Given the description of an element on the screen output the (x, y) to click on. 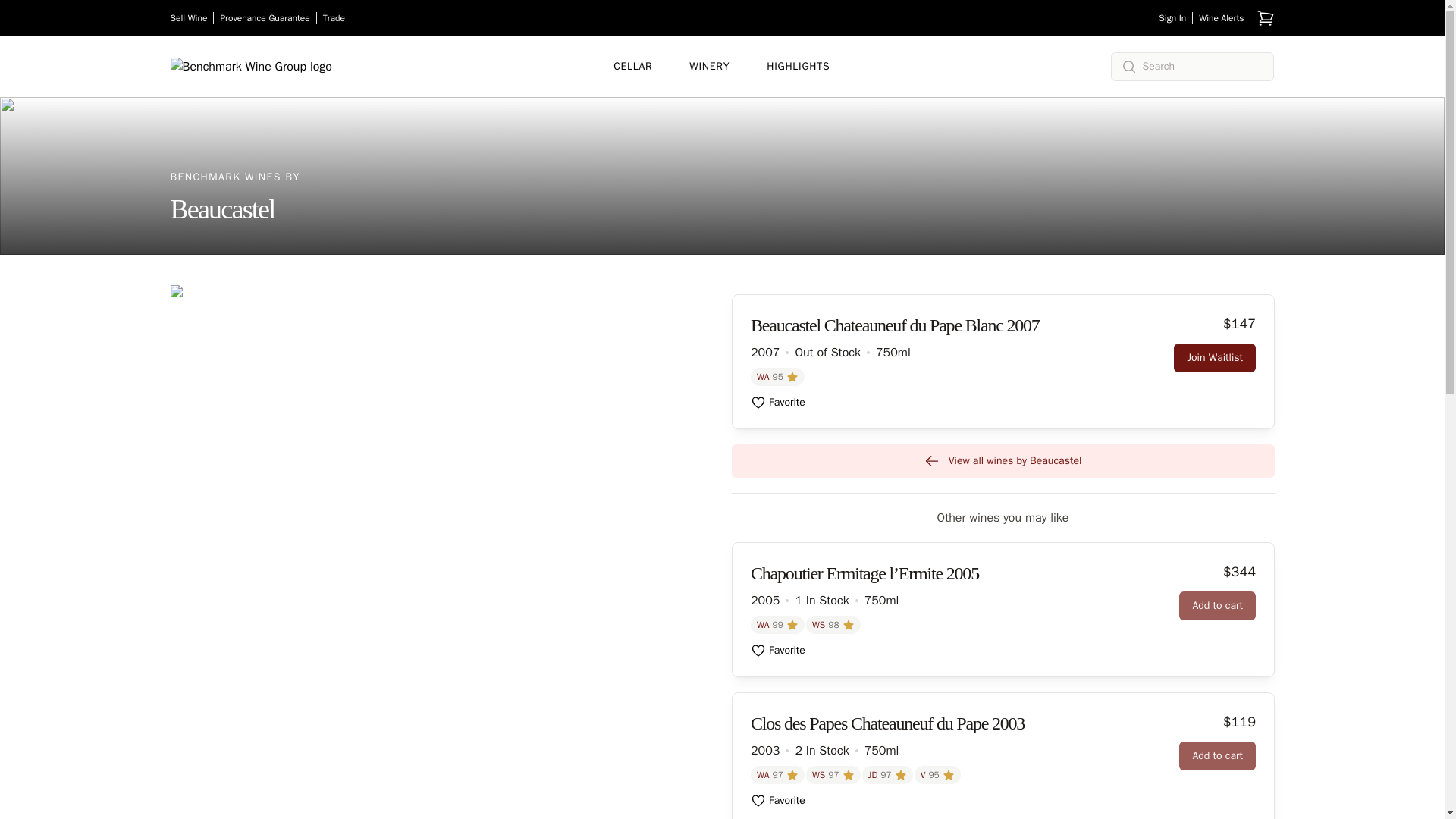
The Wine Advocate (778, 624)
Search (34, 14)
Wine Alerts (1220, 18)
Sign In (1175, 18)
Favorite (778, 800)
Vinous (936, 774)
Add to cart (1217, 756)
Shopping Cart (1264, 18)
Join Waitlist (1214, 357)
Sell Wine (191, 18)
Favorite (778, 650)
Wine Spectator (832, 774)
Beaucastel Chateauneuf du Pape Blanc 2007 (895, 327)
Favorite (778, 402)
Wine Spectator (832, 624)
